Given the description of an element on the screen output the (x, y) to click on. 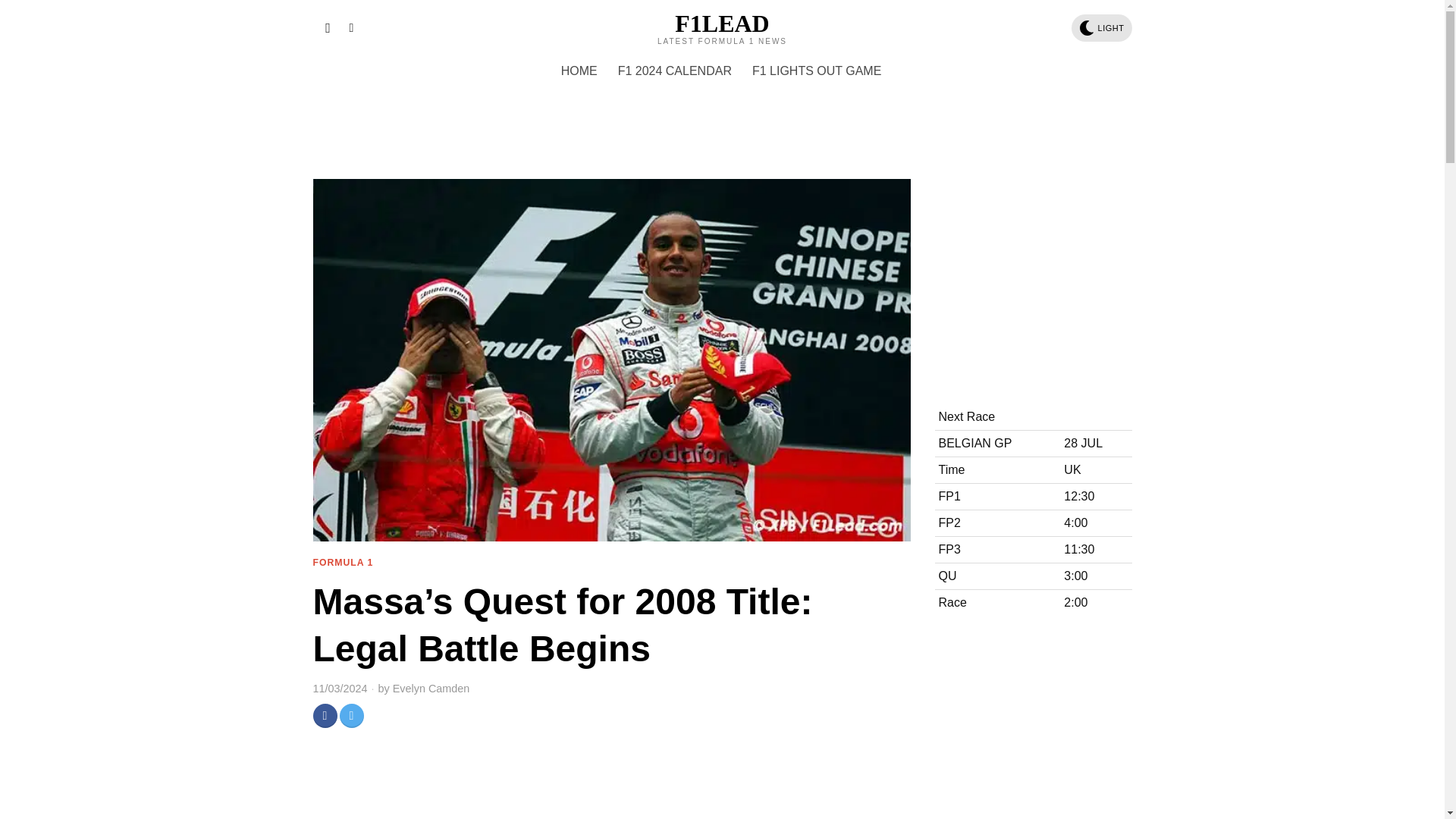
FORMULA 1 (342, 563)
Evelyn Camden (431, 688)
F1LEAD (722, 23)
F1 2024 CALENDAR (675, 71)
HOME (579, 71)
F1 LIGHTS OUT GAME (817, 71)
11 Mar, 2024 19:01:20 (339, 688)
